Given the description of an element on the screen output the (x, y) to click on. 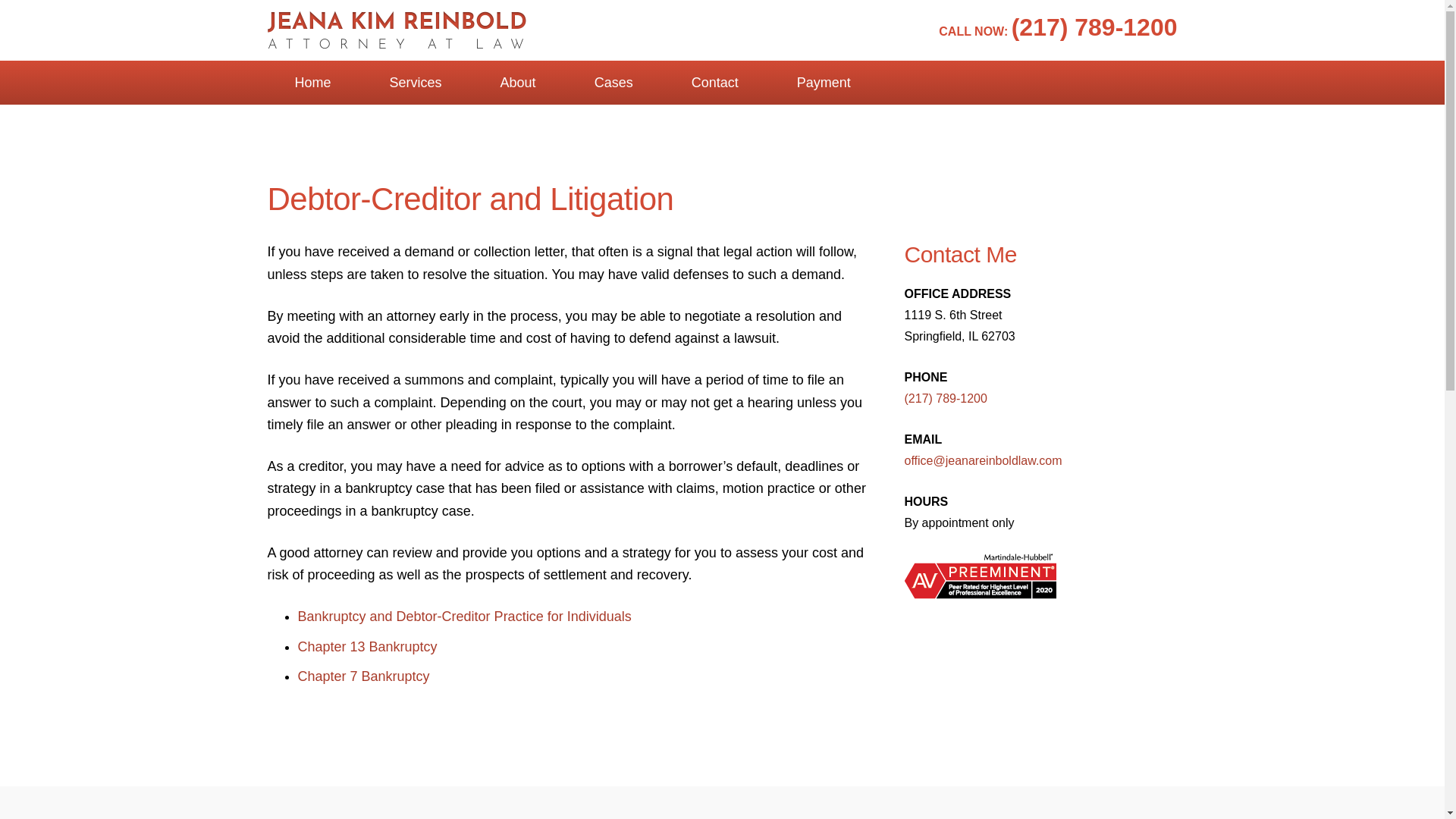
HOME (524, 626)
Chapter 7 Bankruptcy (363, 676)
CONTACT (818, 626)
Bankruptcy and Debtor-Creditor Practice for Individuals (463, 616)
SERVICES (599, 626)
Home (312, 82)
Cases (614, 82)
Contact (714, 82)
PAYMENT (903, 626)
ABOUT (676, 626)
